Given the description of an element on the screen output the (x, y) to click on. 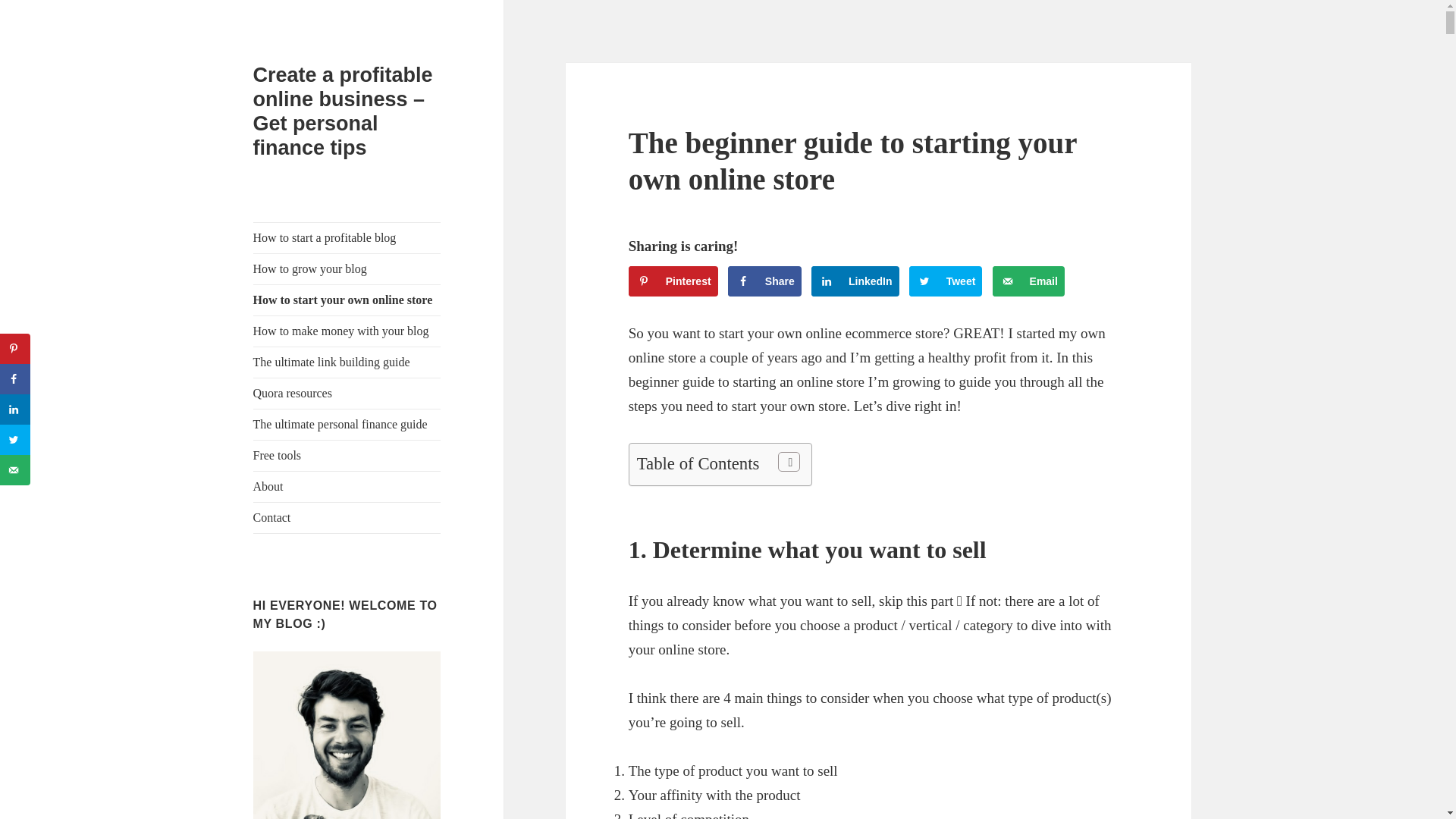
How to start a profitable blog (347, 237)
How to grow your blog (347, 268)
How to start your own online store (347, 300)
The ultimate link building guide (347, 362)
Pinterest (672, 281)
Share on LinkedIn (854, 281)
Save to Pinterest (672, 281)
Send over email (1028, 281)
Share on Twitter (945, 281)
Share on Facebook (765, 281)
Tweet (945, 281)
Contact (347, 517)
Free tools (347, 455)
Share (765, 281)
Email (1028, 281)
